Given the description of an element on the screen output the (x, y) to click on. 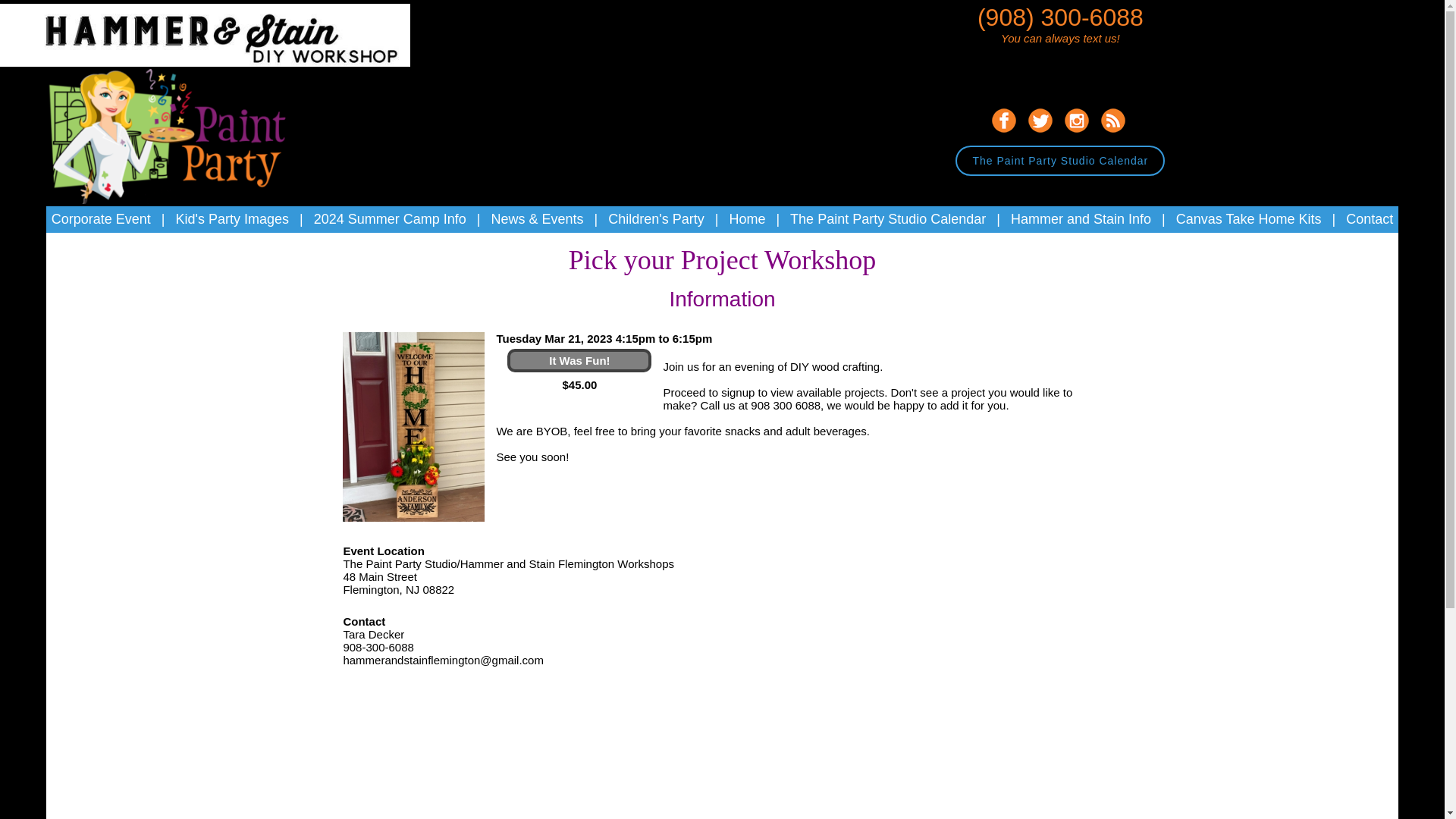
Hammer and Stain Info (1080, 218)
Kid's Party Images (232, 218)
Children's Party (655, 218)
Home (747, 218)
Children's Party Images (232, 218)
2024 Summer Camp Info (389, 218)
The Paint Party Studio Calendar (1059, 160)
Corporate Team Building (100, 218)
News and Events (537, 218)
The Paint Party Studio (228, 62)
The Paint Party Studio (165, 135)
Corporate Event (100, 218)
Children's Party (655, 218)
The Paint Party Studio (747, 218)
The Paint Party Studio Calendar (887, 218)
